Given the description of an element on the screen output the (x, y) to click on. 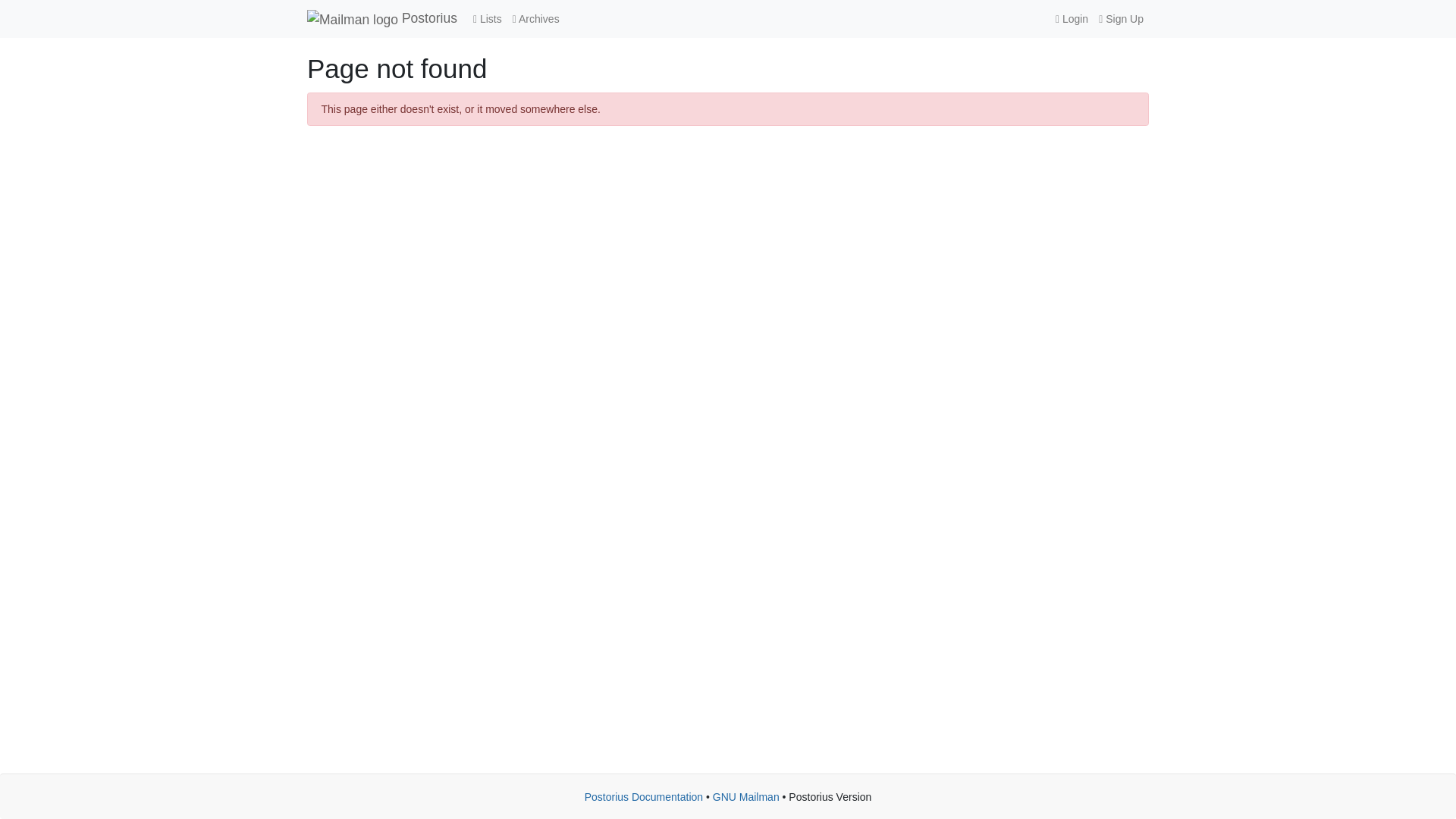
Postorius (382, 18)
Login (1071, 18)
Sign Up (1120, 18)
Archives (535, 18)
Lists (486, 18)
